Given the description of an element on the screen output the (x, y) to click on. 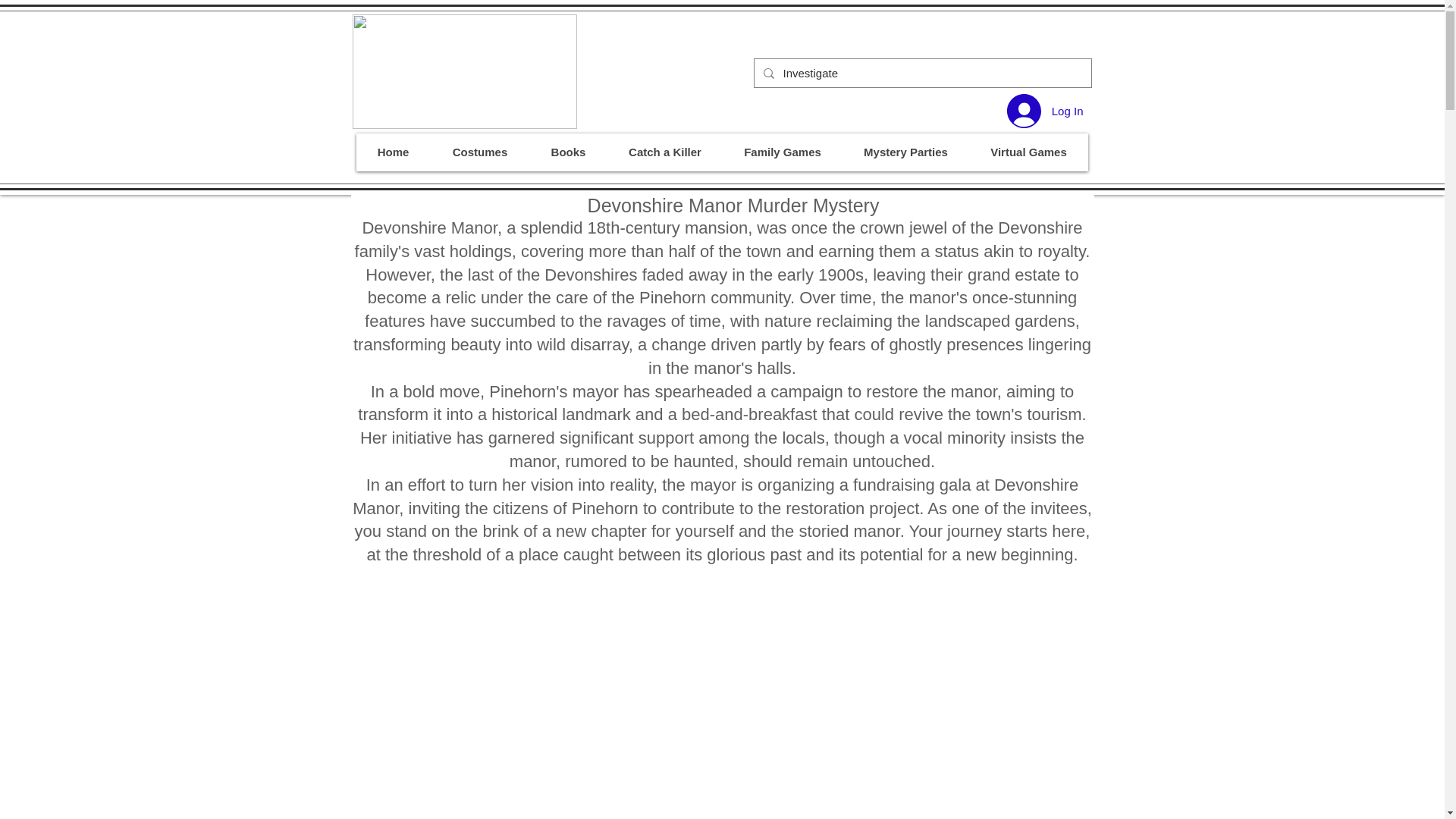
Home (393, 152)
Costumes (479, 152)
Log In (1044, 110)
